Given the description of an element on the screen output the (x, y) to click on. 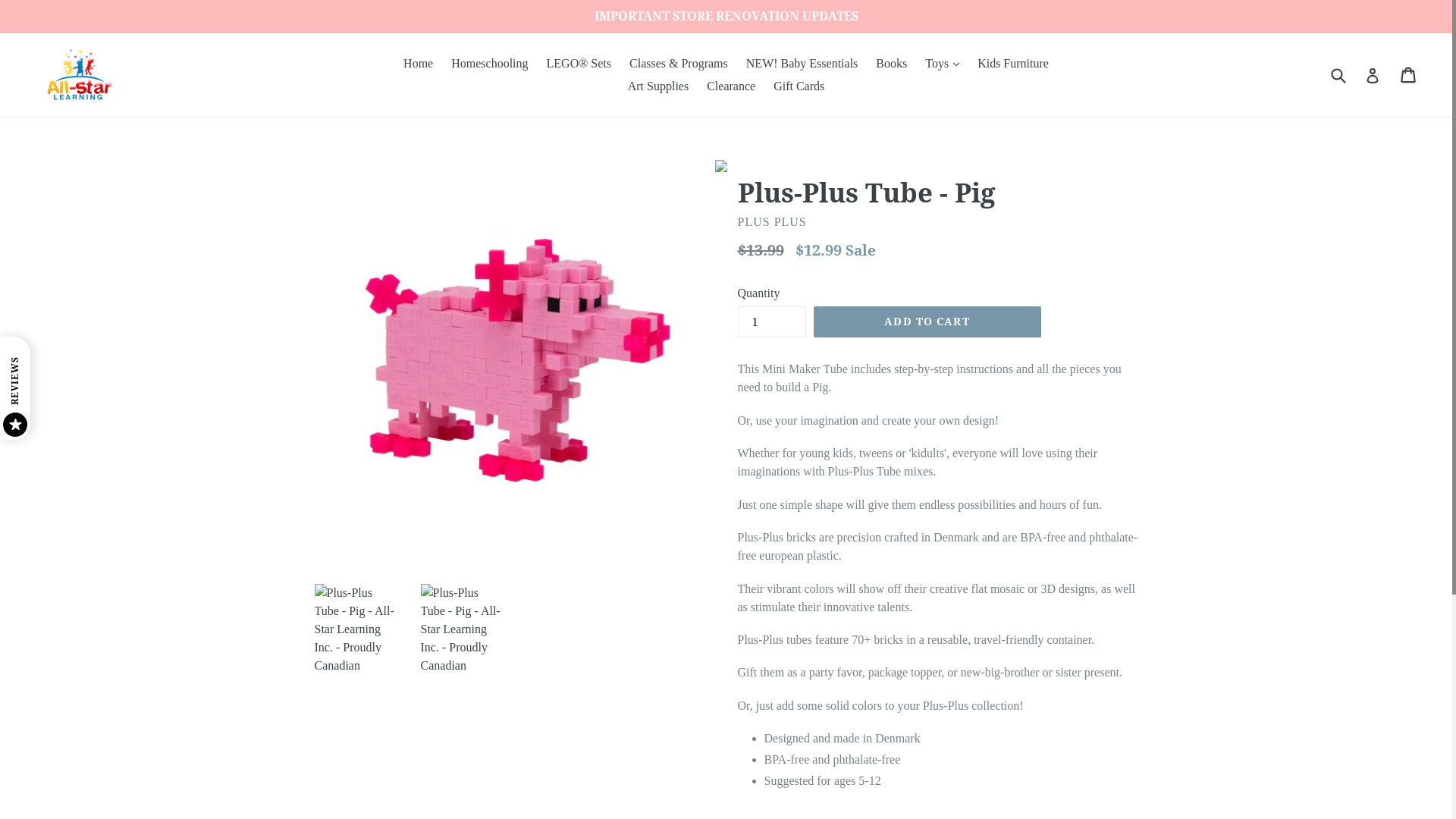
Books Element type: text (891, 63)
Gift Cards Element type: text (798, 86)
Kids Furniture Element type: text (1012, 63)
Submit Element type: text (1337, 74)
Homeschooling Element type: text (489, 63)
NEW! Baby Essentials Element type: text (802, 63)
Classes & Programs Element type: text (678, 63)
IMPORTANT STORE RENOVATION UPDATES Element type: text (726, 16)
ADD TO CART Element type: text (926, 322)
Home Element type: text (417, 63)
Art Supplies Element type: text (658, 86)
Clearance Element type: text (730, 86)
Cart
Cart Element type: text (1409, 74)
